Given the description of an element on the screen output the (x, y) to click on. 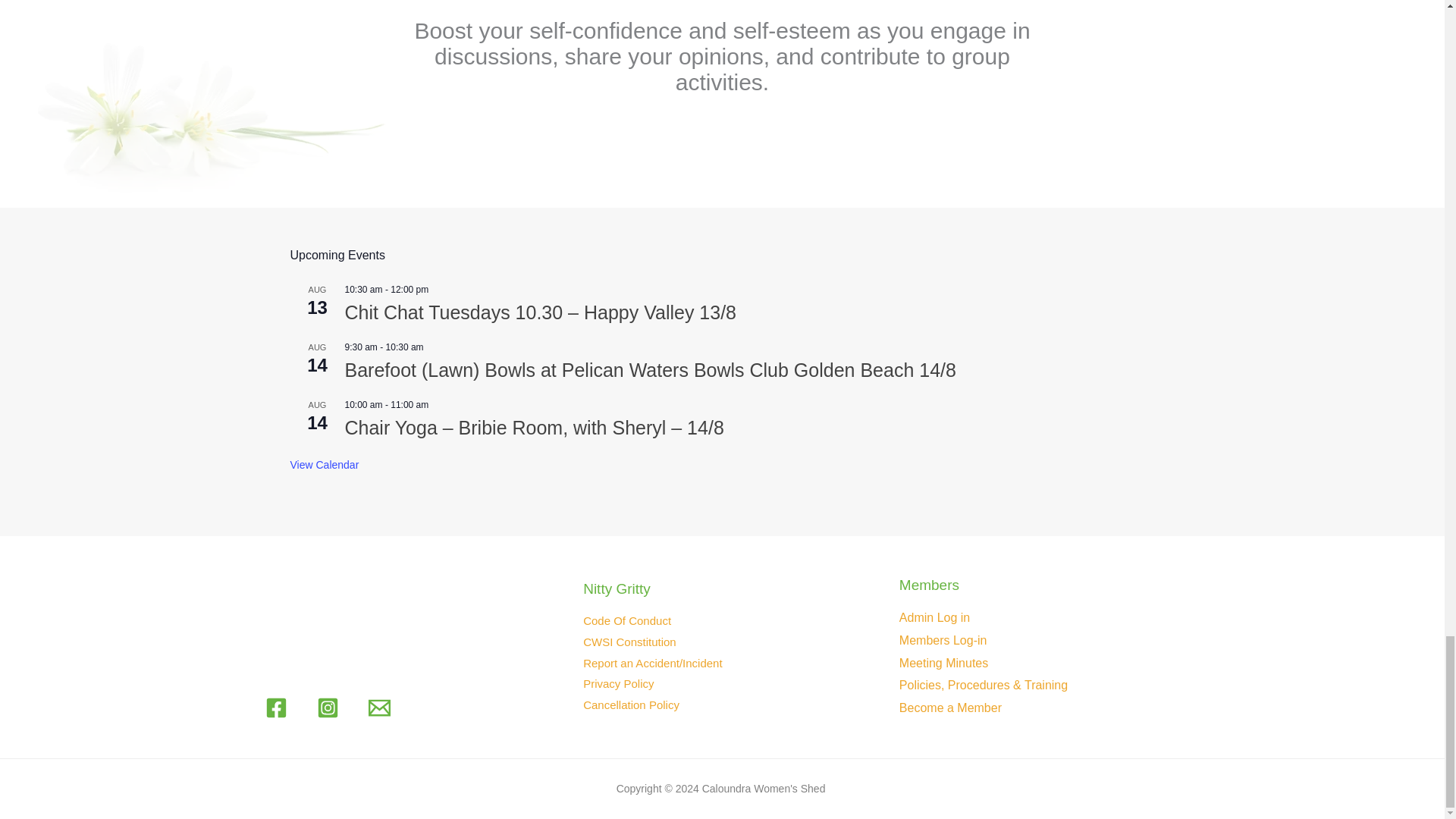
Cancellation Policy (631, 704)
Members Log-in (943, 640)
Code Of Conduct (627, 620)
Meeting Minutes (943, 662)
Admin Log in (934, 617)
Privacy Policy (618, 683)
View Calendar (323, 464)
CWSI Constitution (630, 641)
Become a Member (950, 707)
View more events. (323, 464)
